Given the description of an element on the screen output the (x, y) to click on. 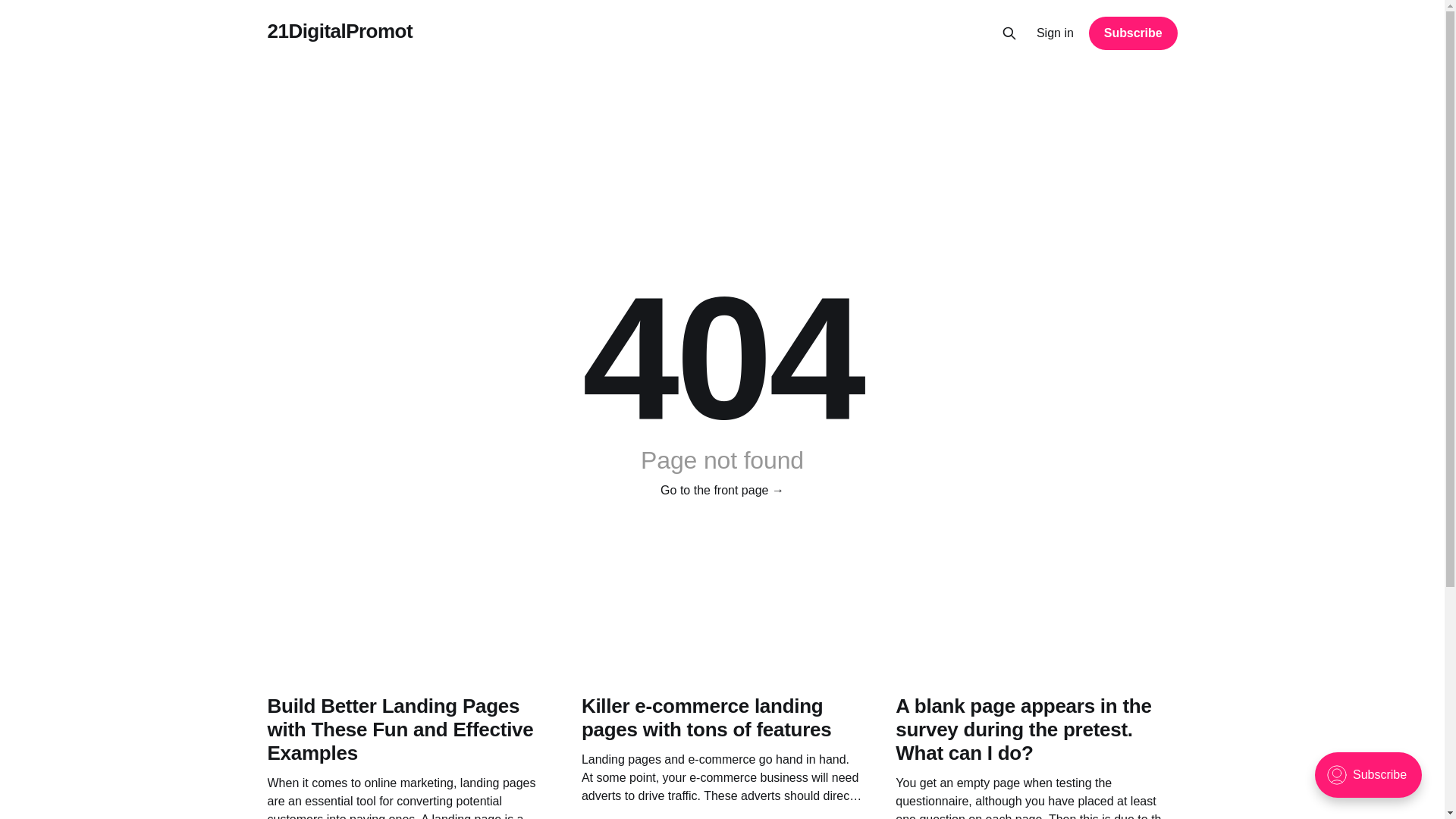
Subscribe Element type: text (1132, 33)
Sign in Element type: text (1054, 33)
21DigitalPromot Element type: text (339, 31)
